Given the description of an element on the screen output the (x, y) to click on. 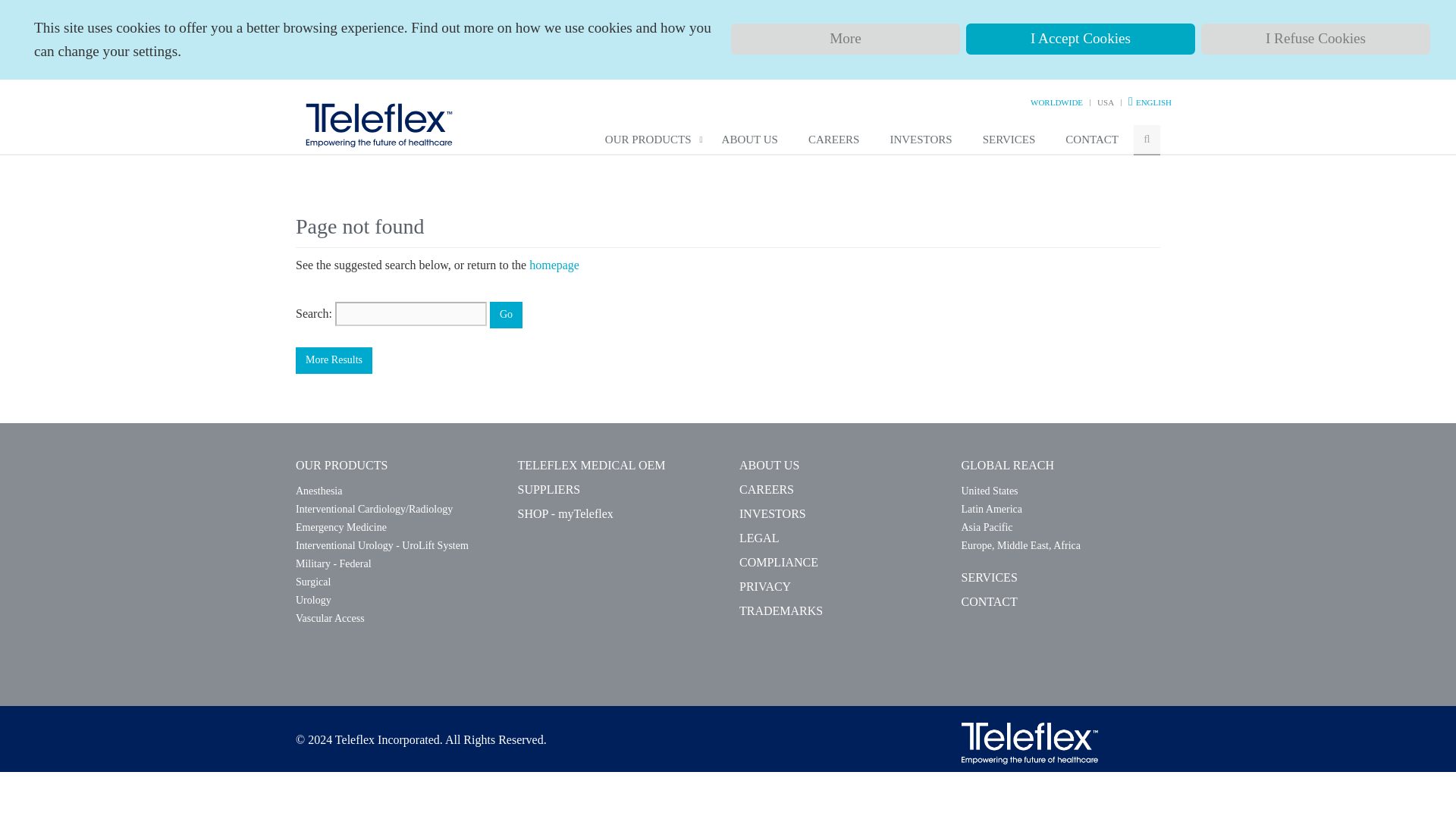
Military - Federal (333, 563)
Vascular Access (330, 618)
Anesthesia (318, 490)
More Results (333, 360)
ENGLISH (1153, 102)
ABOUT US (749, 140)
INVESTORS (920, 140)
SERVICES (1009, 140)
I Refuse Cookies (1315, 38)
Emergency Medicine (341, 527)
